Given the description of an element on the screen output the (x, y) to click on. 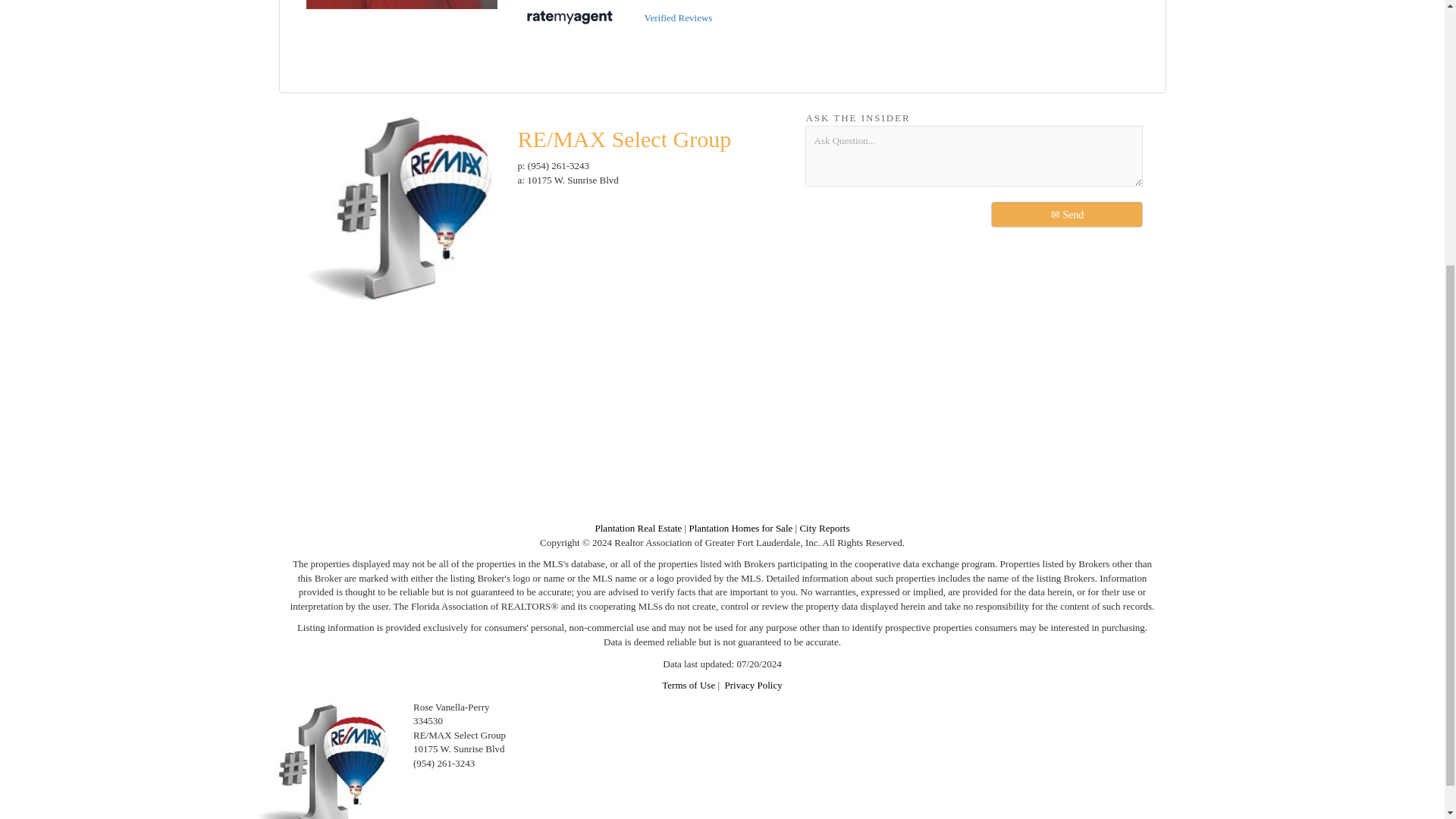
Verified Reviews (616, 17)
Plantation Homes for Sale (740, 527)
Terms of Use (688, 685)
Privacy Policy (754, 685)
Plantation Real Estate (638, 527)
City Reports (823, 527)
Send (1066, 214)
ASK THE INSIDER (973, 118)
